Given the description of an element on the screen output the (x, y) to click on. 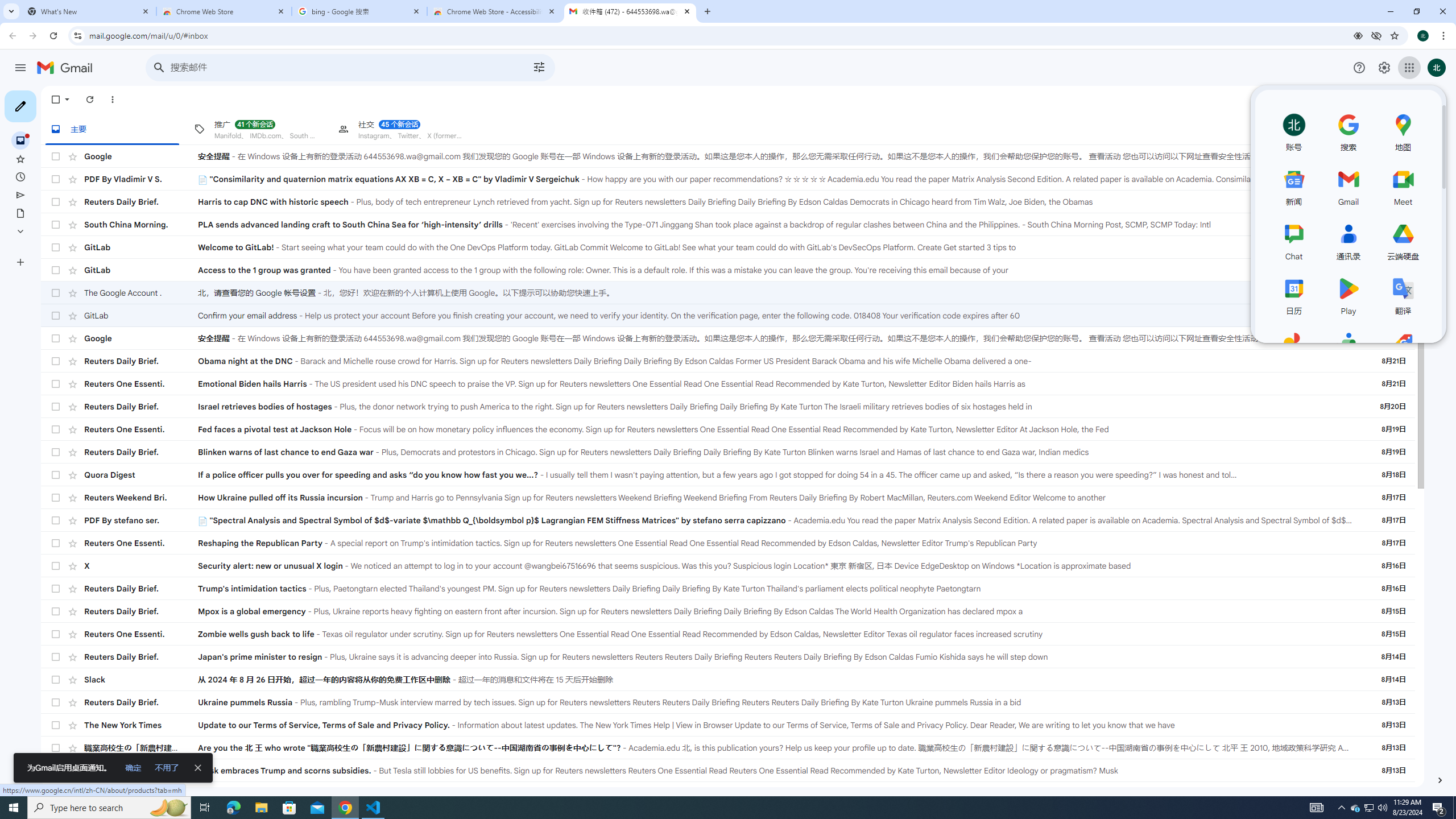
page wants to install a service handler. (1358, 35)
